Given the description of an element on the screen output the (x, y) to click on. 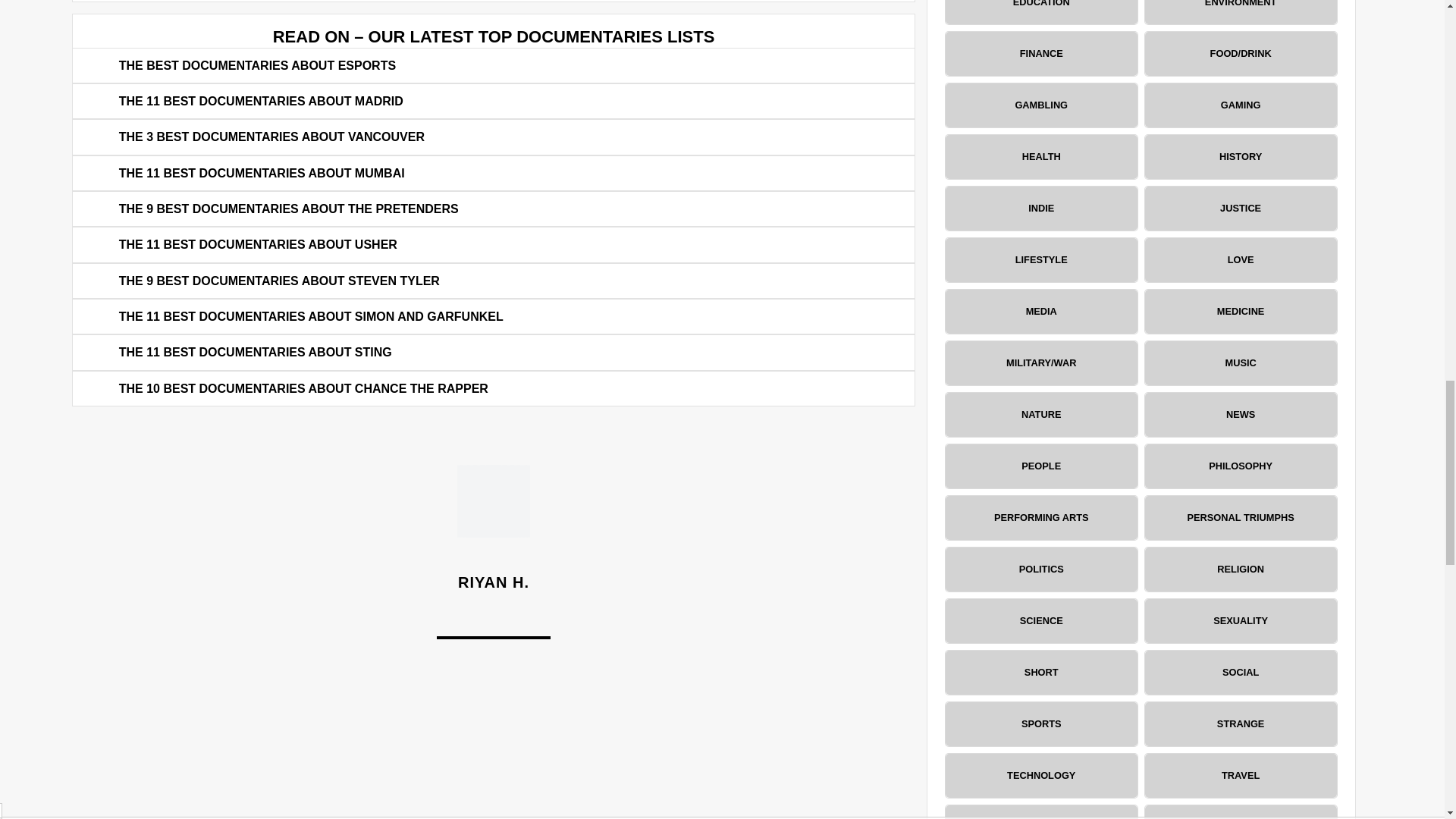
THE 9 BEST DOCUMENTARIES ABOUT THE PRETENDERS (288, 208)
THE 3 BEST DOCUMENTARIES ABOUT VANCOUVER (272, 136)
THE 11 BEST DOCUMENTARIES ABOUT SIMON AND GARFUNKEL (311, 316)
THE BEST DOCUMENTARIES ABOUT ESPORTS (257, 65)
ENVIRONMENT (1240, 12)
THE 11 BEST DOCUMENTARIES ABOUT MUMBAI (261, 173)
EDUCATION (1040, 12)
THE 10 BEST DOCUMENTARIES ABOUT CHANCE THE RAPPER (303, 388)
THE 9 BEST DOCUMENTARIES ABOUT STEVEN TYLER (279, 280)
THE 11 BEST DOCUMENTARIES ABOUT MADRID (261, 101)
THE 11 BEST DOCUMENTARIES ABOUT USHER (258, 244)
THE 11 BEST DOCUMENTARIES ABOUT STING (255, 352)
